Given the description of an element on the screen output the (x, y) to click on. 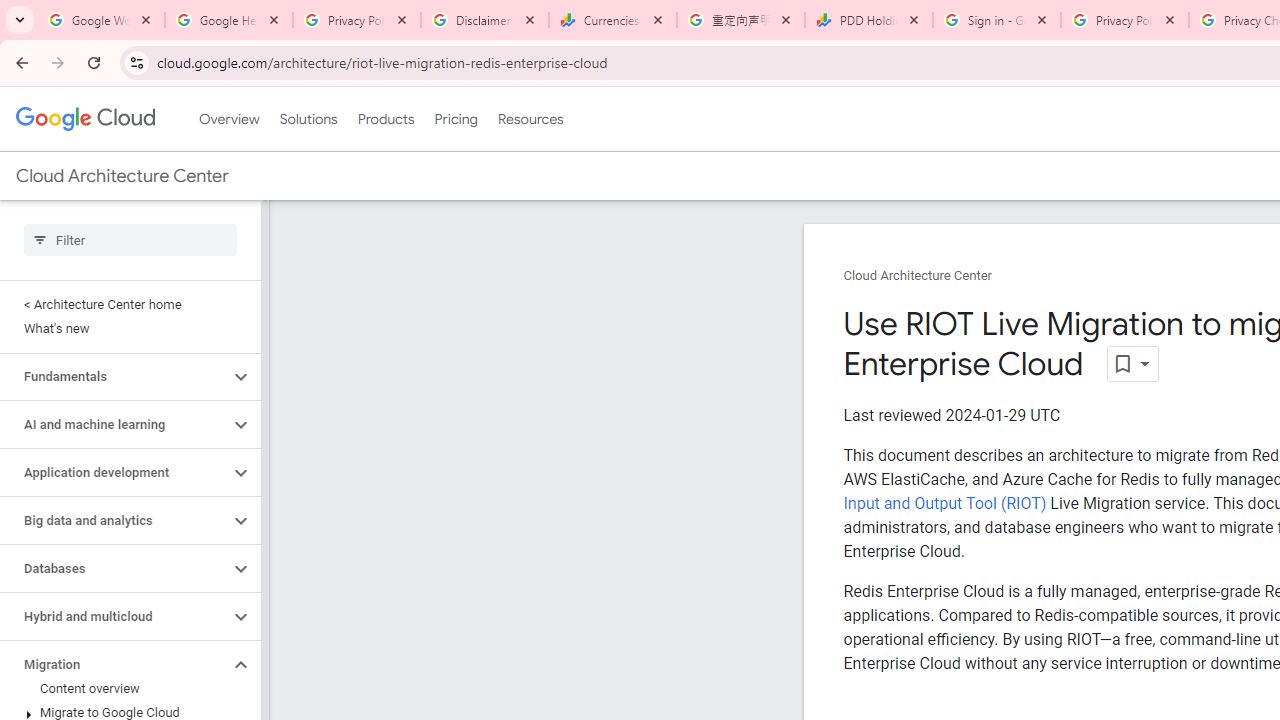
Migration (114, 664)
Resources (530, 119)
What's new (126, 328)
Sign in - Google Accounts (997, 20)
Google Cloud (84, 118)
Fundamentals (114, 376)
Pricing (455, 119)
< Architecture Center home (126, 304)
Content overview (126, 688)
Databases (114, 569)
